Given the description of an element on the screen output the (x, y) to click on. 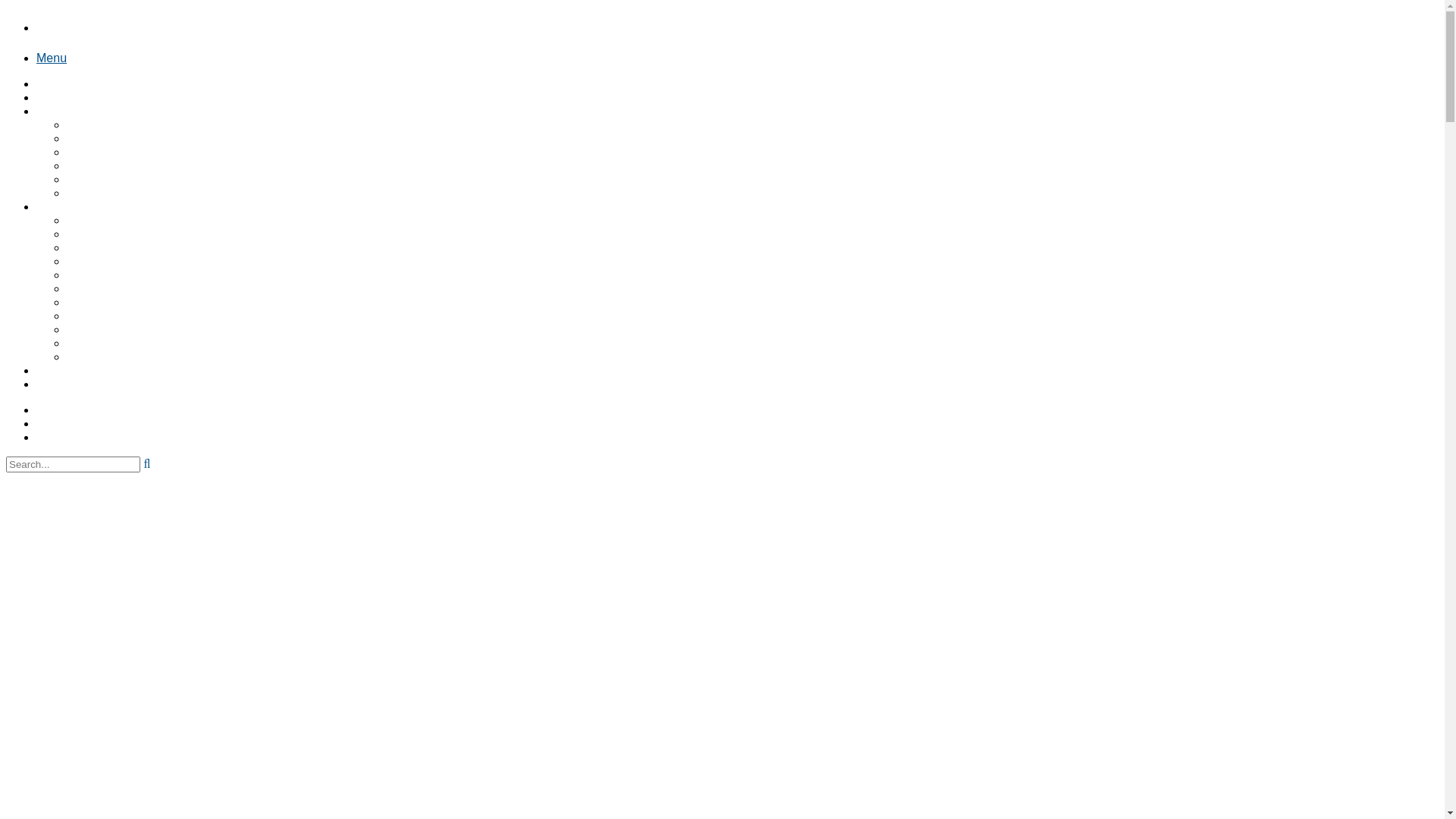
Blocco servizi a pagamento Element type: text (142, 219)
Scrivi a Tim Element type: text (99, 274)
Chi Sono Element type: text (62, 97)
Centralino Telefonico Tim Element type: text (136, 151)
Bolletta Tim Digitale Element type: text (121, 233)
Il Gruppo Telecom Italia Element type: text (131, 247)
Blog Element type: text (49, 370)
Utility Element type: text (52, 206)
Connessione Internet Professionale Element type: text (164, 165)
Linea Telefonica Tim Element type: text (123, 124)
Numeri assistenza Tecnica Tim Element type: text (151, 260)
Home Element type: text (54, 83)
My Account Element type: text (69, 409)
Codici sblocco telefonici Element type: text (132, 301)
Come leggere fattura Tim Mobile Element type: text (156, 315)
Menu Element type: text (51, 57)
Linea mobile ricaricabile Tim Element type: text (144, 288)
Cassa Element type: text (55, 423)
Smartphone Tim Aziendale Element type: text (140, 178)
Verifica Agente Tim Element type: text (119, 356)
Contatti Element type: text (58, 383)
Carrello Element type: text (58, 436)
Domiciliazione Bancaria Fattura Tim Element type: text (165, 329)
Prodotti Connessi Tim Element type: text (127, 192)
Linea Mobile Tim Element type: text (113, 137)
Soluzioni Element type: text (62, 110)
